Given the description of an element on the screen output the (x, y) to click on. 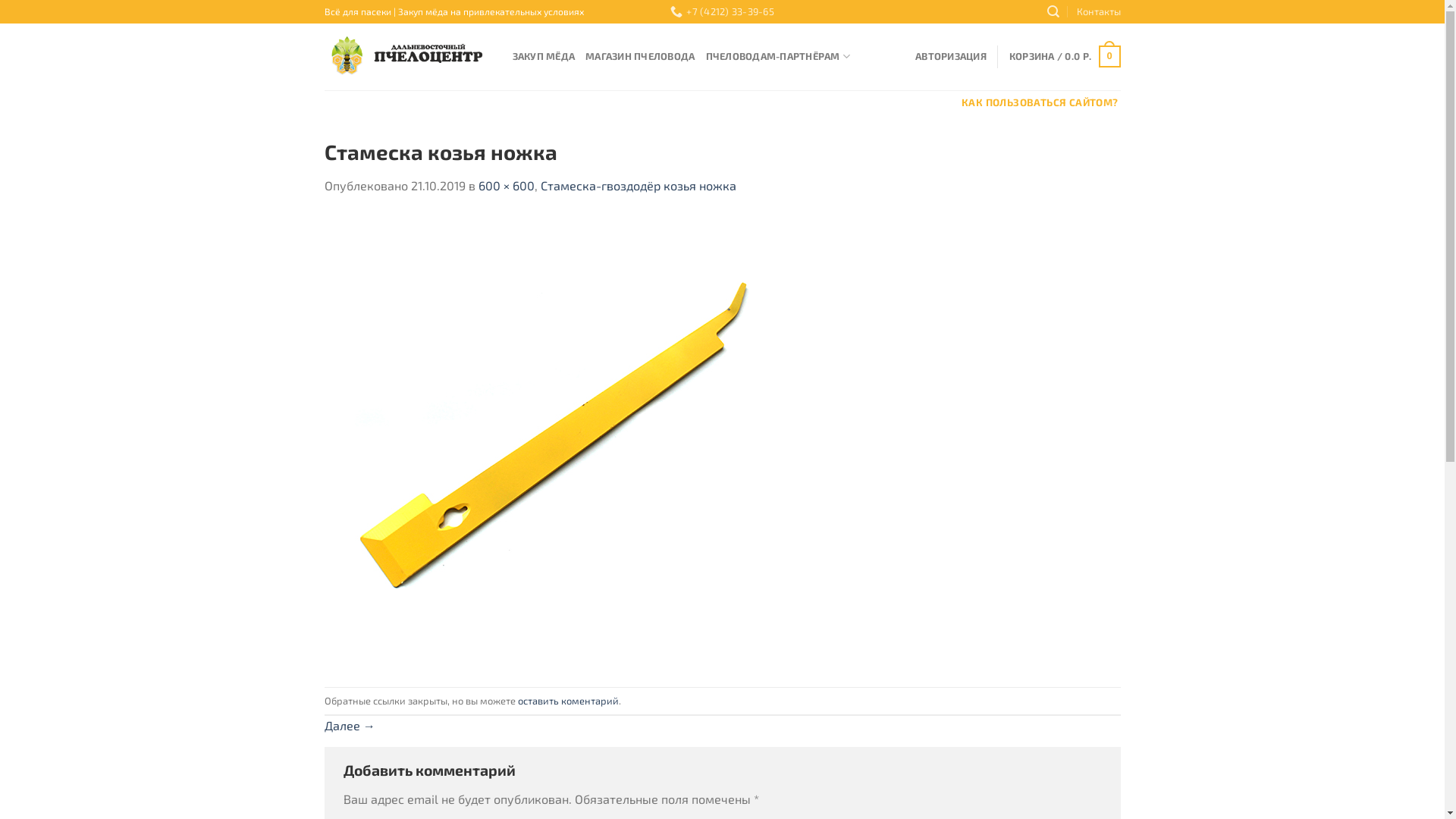
Skip to content Element type: text (0, 0)
+7 (4212) 33-39-65 Element type: text (722, 11)
